Given the description of an element on the screen output the (x, y) to click on. 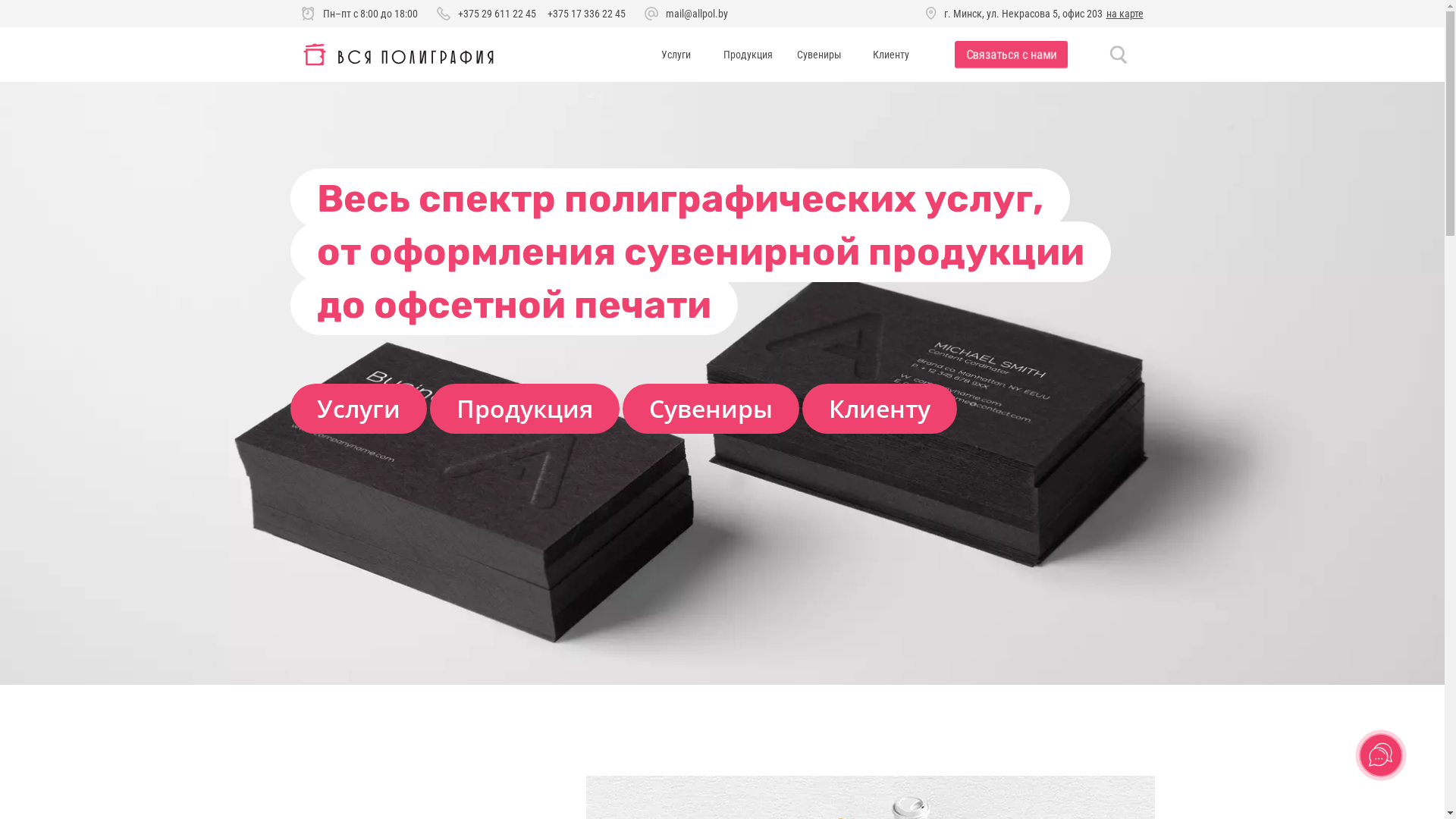
mail@allpol.by Element type: text (696, 13)
+375 17 336 22 45 Element type: text (586, 13)
+375 29 611 22 45 Element type: text (497, 13)
